Given the description of an element on the screen output the (x, y) to click on. 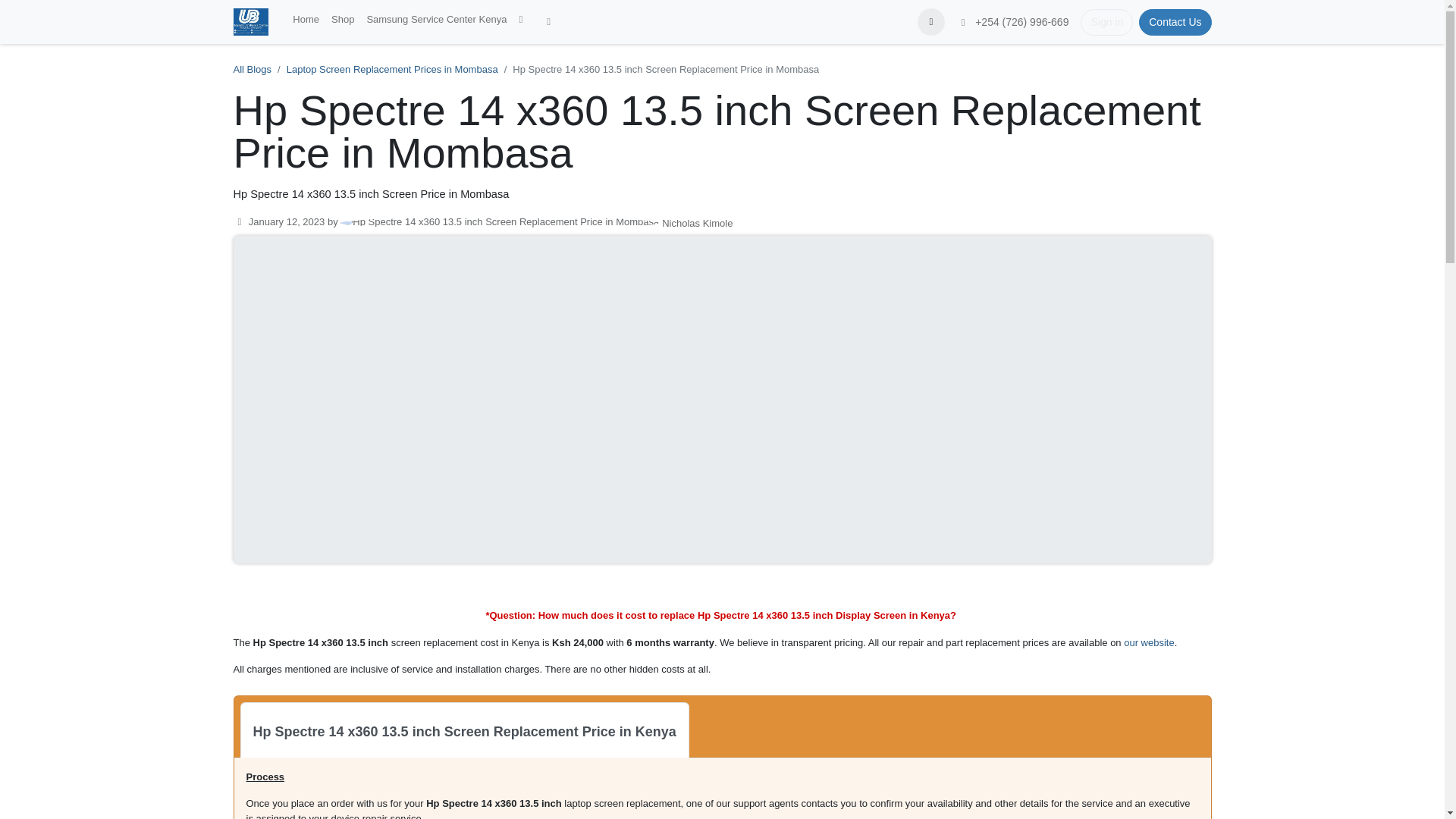
Laptop Screen Replacement Prices in Mombasa (391, 69)
our website (1148, 642)
Samsung Service Center Kenya (435, 19)
Shop (341, 19)
All Blogs (252, 69)
Contact Us (1174, 22)
Search (930, 22)
Sign in (1106, 22)
Home (305, 19)
Nairobi UltraBooks Center (250, 22)
